Given the description of an element on the screen output the (x, y) to click on. 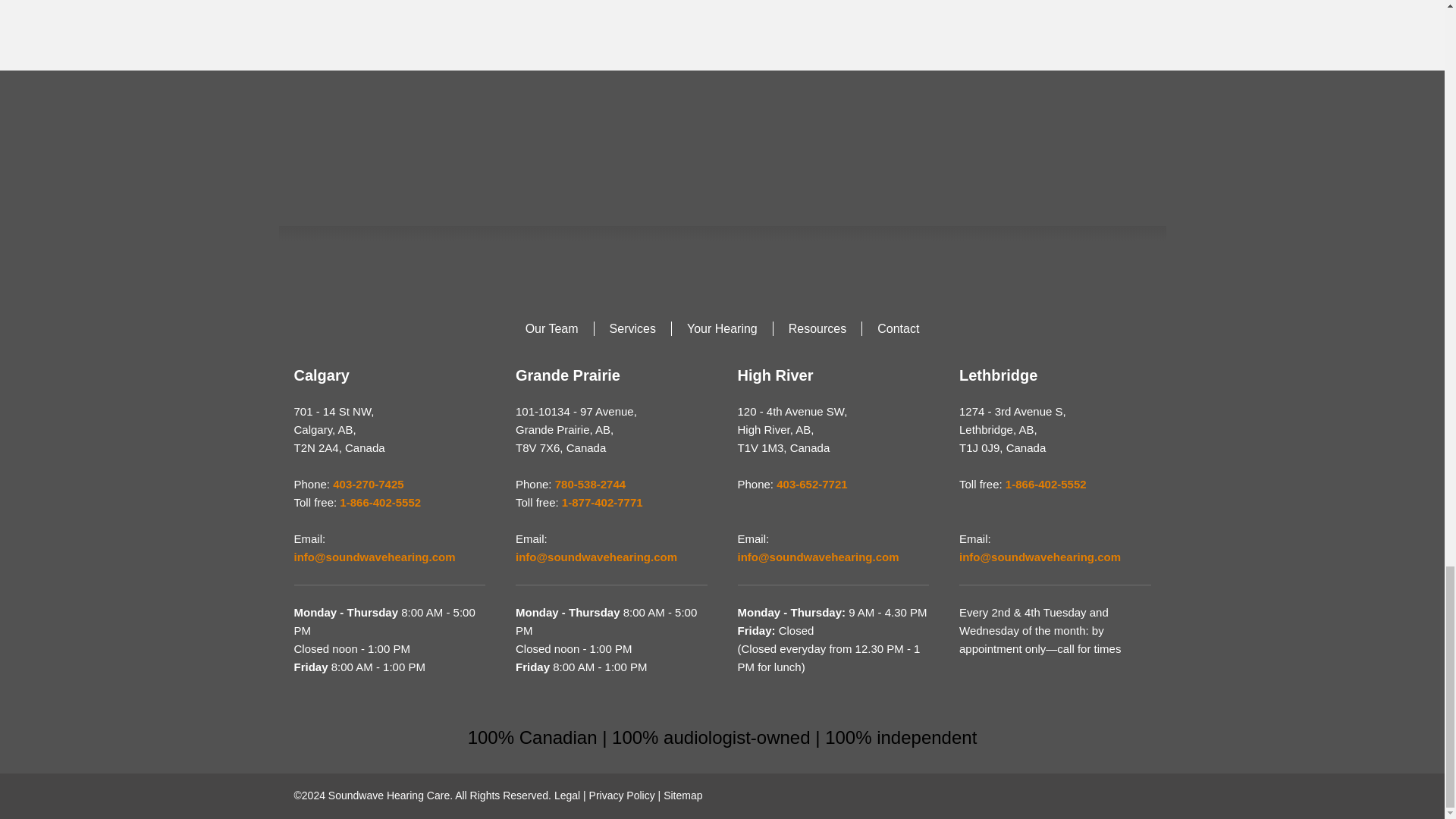
Soundwave Hearing Centre (721, 141)
